Given the description of an element on the screen output the (x, y) to click on. 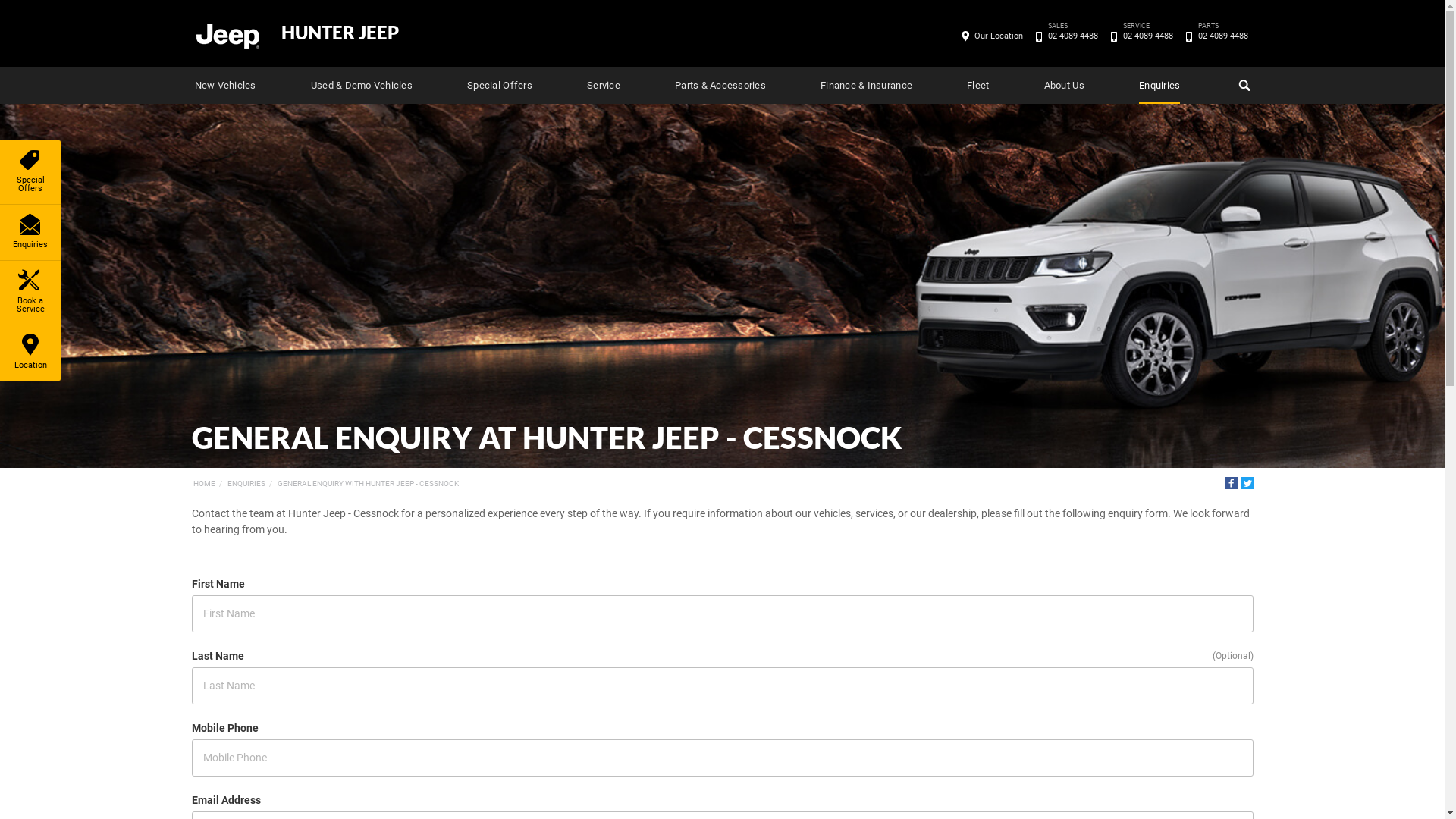
Special Offers Element type: text (499, 85)
Enquiries Element type: text (30, 232)
Location Element type: text (30, 352)
PARTS
02 4089 4488 Element type: text (1222, 35)
Finance & Insurance Element type: text (866, 85)
Facebook Element type: hover (1231, 482)
SERVICE
02 4089 4488 Element type: text (1147, 35)
Fleet Element type: text (977, 85)
Enquiries Element type: text (1159, 85)
Our Location Element type: text (998, 35)
SALES
02 4089 4488 Element type: text (1071, 35)
New Vehicles Element type: text (224, 85)
HUNTER JEEP Element type: text (339, 32)
Parts & Accessories Element type: text (719, 85)
Twitter Element type: hover (1246, 482)
Search Element type: text (1241, 85)
Book a Service Element type: text (30, 292)
About Us Element type: text (1064, 85)
Hunter Jeep Element type: hover (226, 34)
ENQUIRIES Element type: text (246, 483)
GENERAL ENQUIRY WITH HUNTER JEEP - CESSNOCK Element type: text (367, 483)
HOME Element type: text (203, 483)
Service Element type: text (603, 85)
Used & Demo Vehicles Element type: text (361, 85)
Special Offers Element type: text (30, 171)
